Given the description of an element on the screen output the (x, y) to click on. 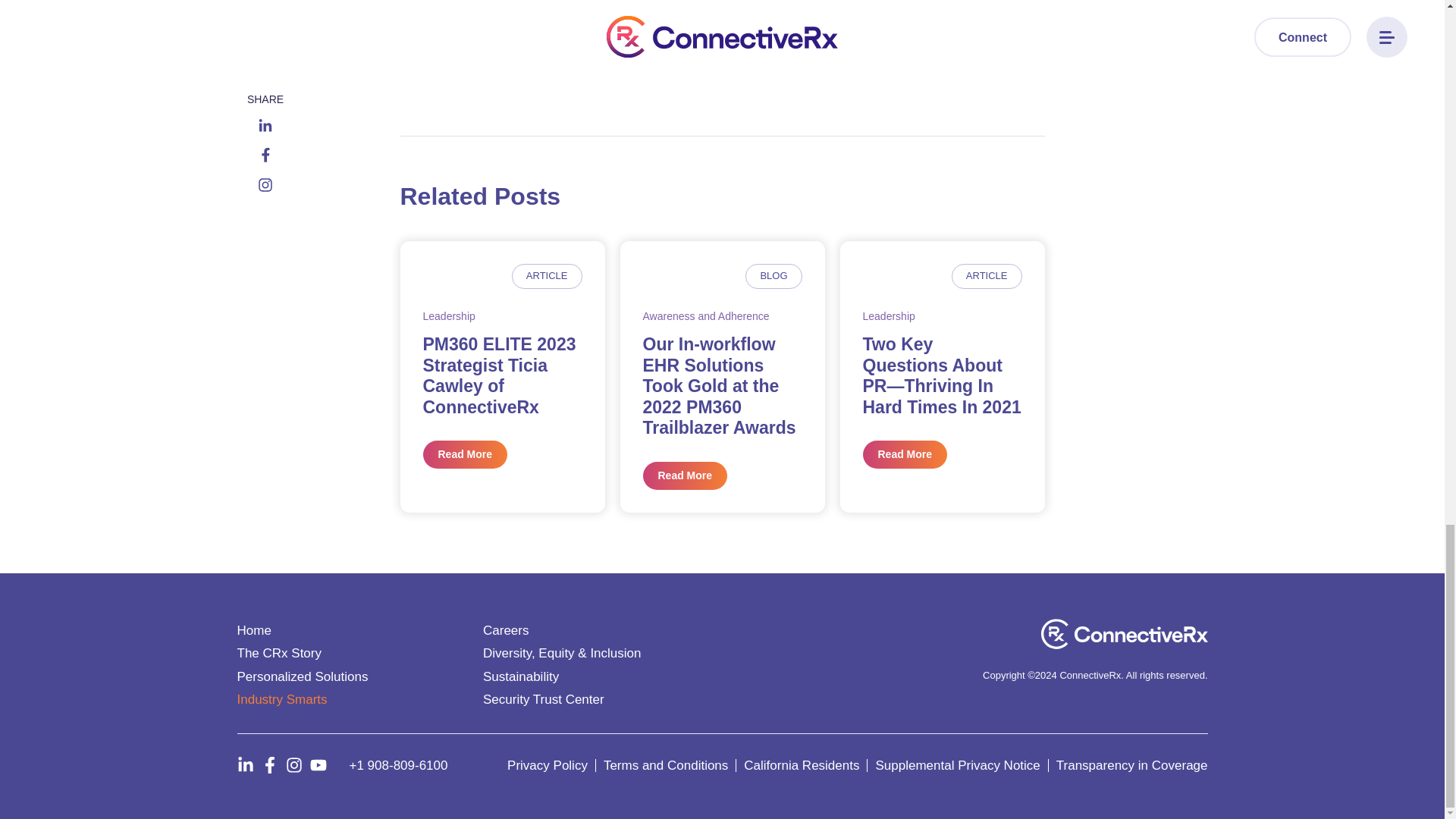
Careers (505, 630)
Home (252, 630)
Industry Smarts (280, 699)
The CRx Story (277, 653)
Awareness and Adherence (706, 316)
Read More (905, 454)
Sustainability (521, 676)
Read More (685, 475)
Read More (465, 454)
PM360 ELITE 2023 Strategist Ticia Cawley of ConnectiveRx (499, 375)
Leadership (449, 316)
Leadership (889, 316)
Privacy Policy (547, 765)
Security Trust Center (543, 699)
